Given the description of an element on the screen output the (x, y) to click on. 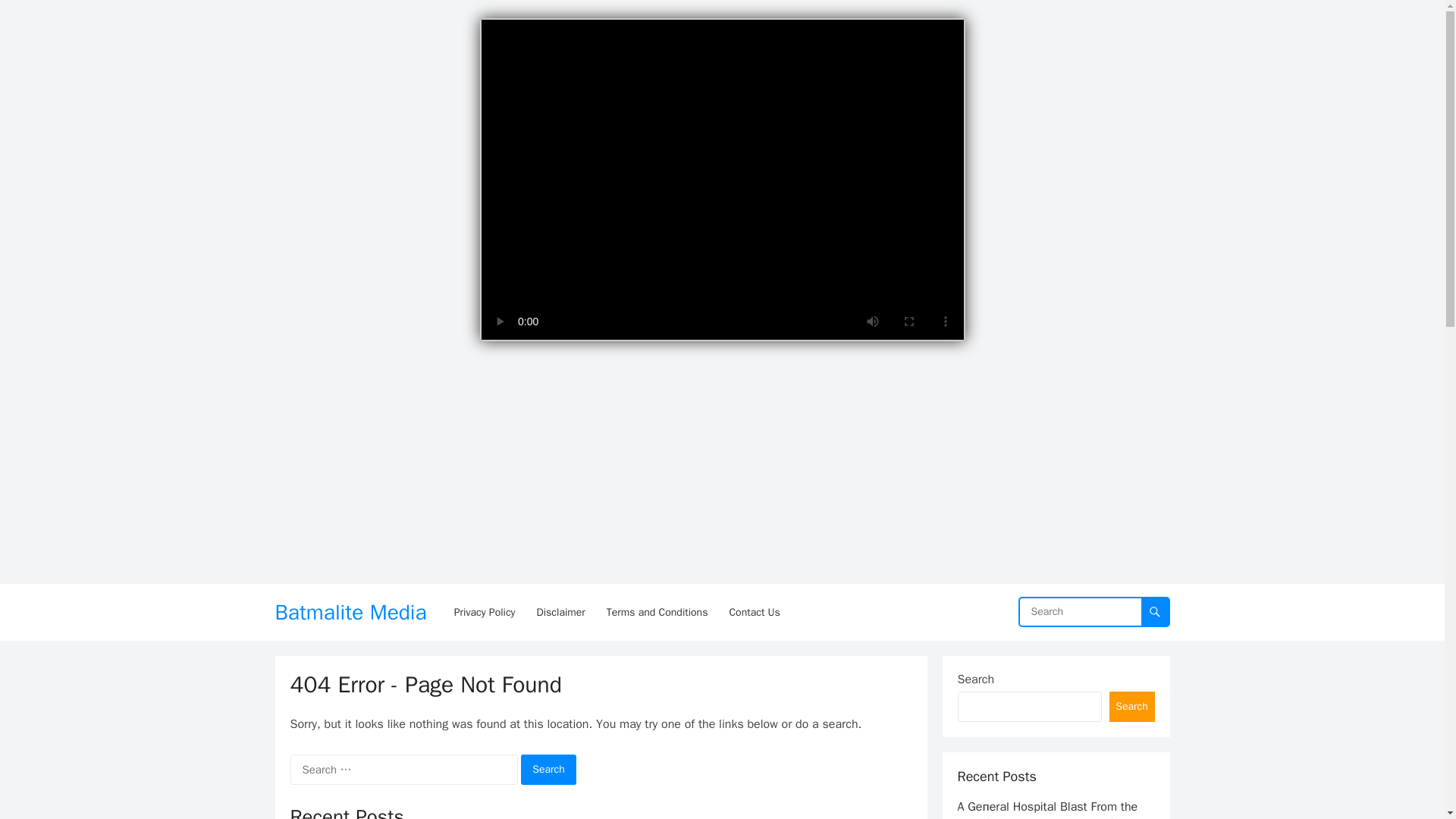
Privacy Policy (484, 611)
Disclaimer (560, 611)
Contact Us (754, 611)
Search (548, 769)
Terms and Conditions (656, 611)
Batmalite Media (350, 611)
Search (1131, 706)
Search (548, 769)
Search (548, 769)
